Given the description of an element on the screen output the (x, y) to click on. 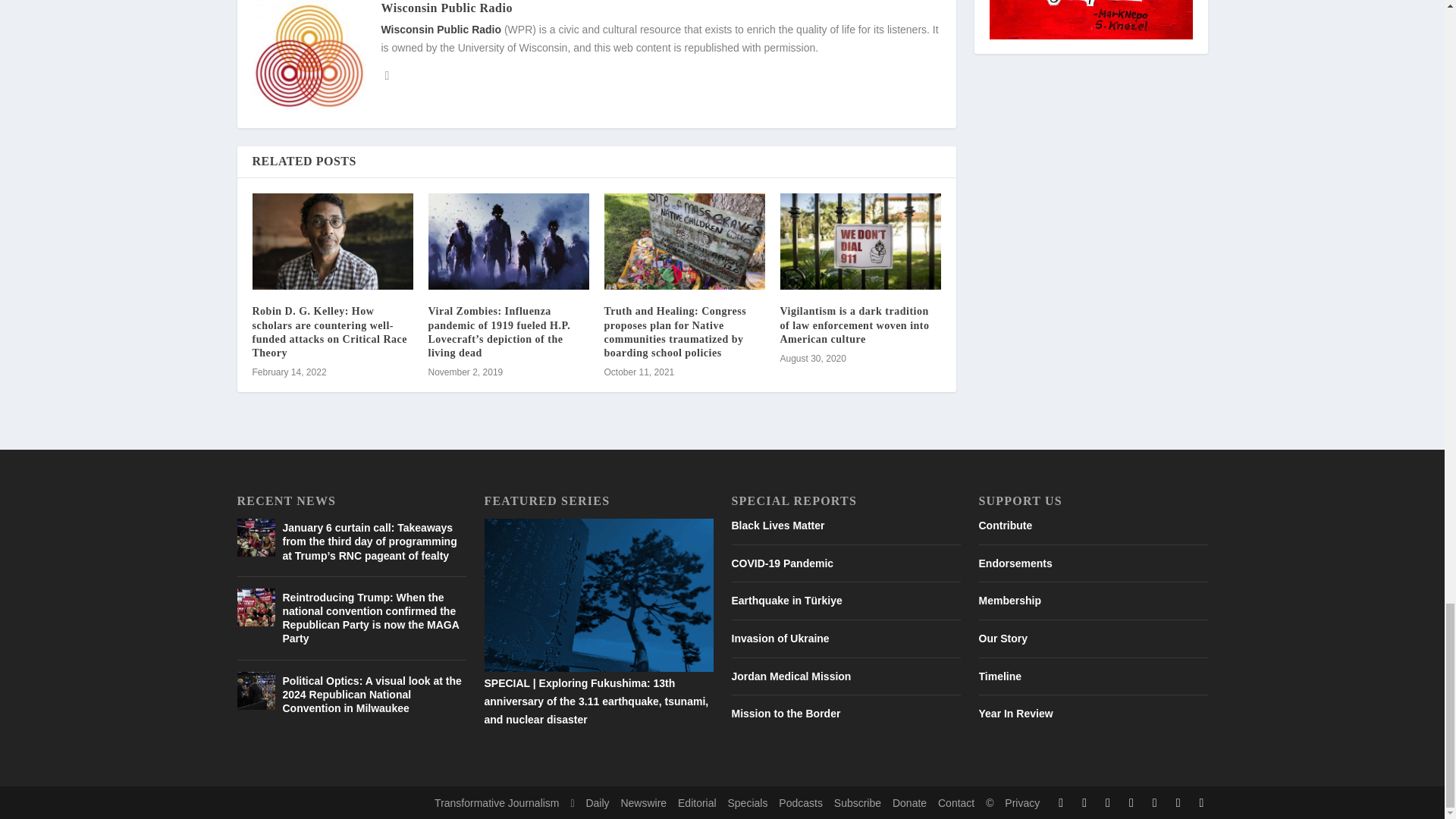
View all posts by Wisconsin Public Radio (446, 7)
